Given the description of an element on the screen output the (x, y) to click on. 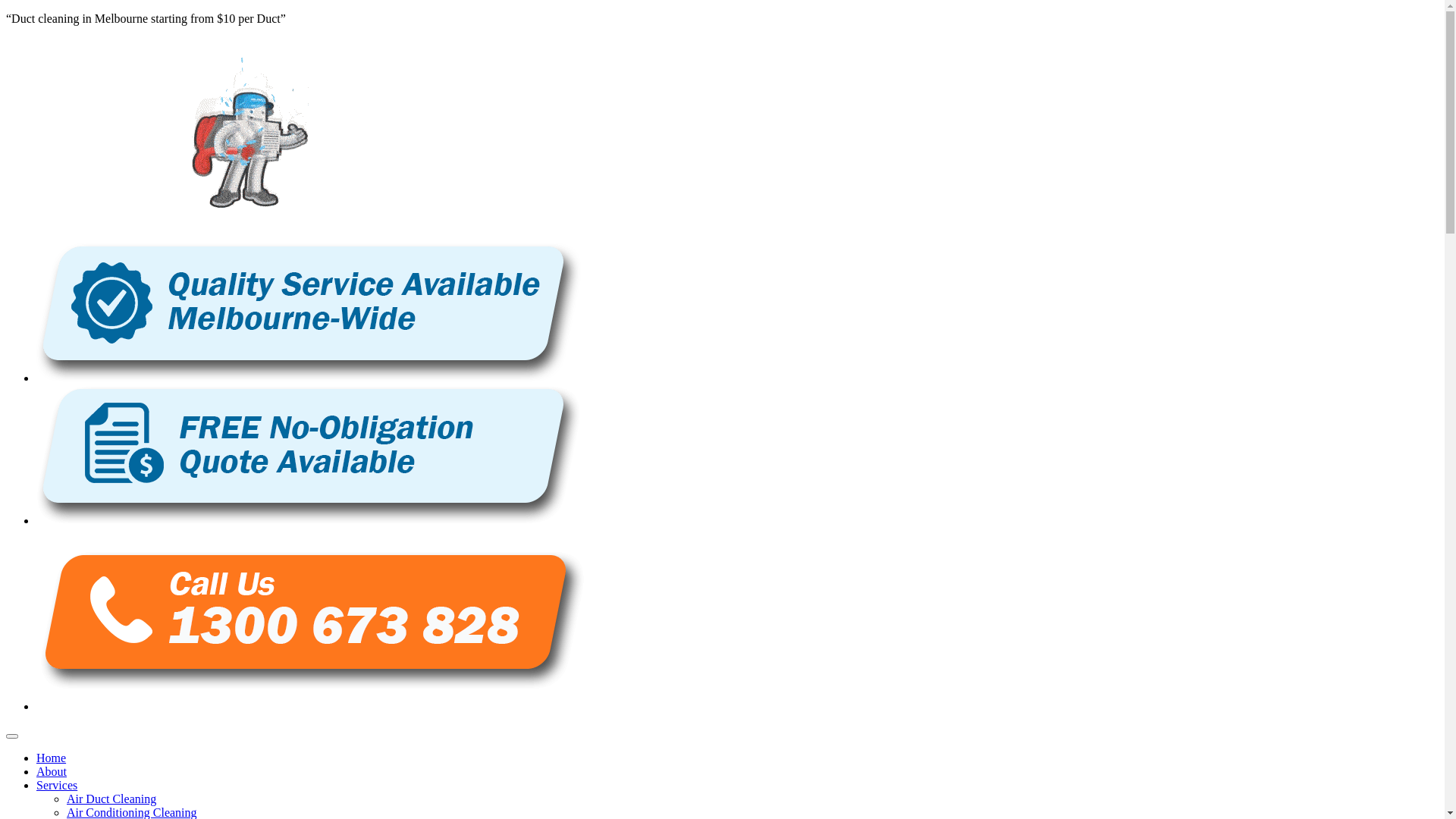
Quality Service Available Melbourne-Wide Element type: hover (308, 312)
Duct Cleaning Melbourne Element type: hover (248, 222)
Services Element type: text (56, 784)
Home Element type: text (50, 757)
Air Duct Cleaning Element type: text (111, 798)
About Element type: text (51, 771)
Duct Cleaning Melbourne Element type: hover (248, 132)
Free No-obligation Quote Available Element type: hover (308, 454)
Call Us Element type: hover (309, 618)
